Given the description of an element on the screen output the (x, y) to click on. 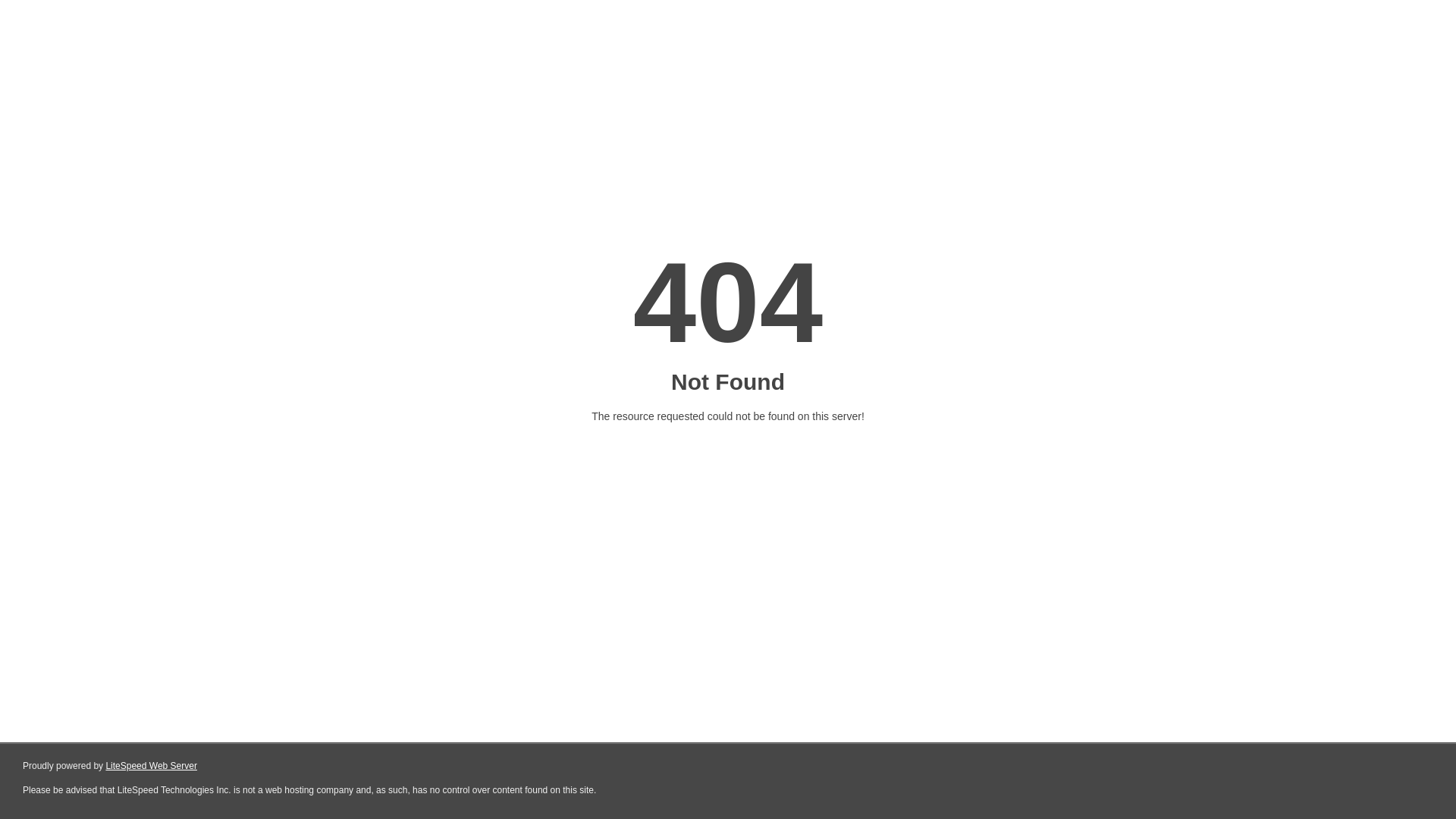
LiteSpeed Web Server (150, 765)
